Given the description of an element on the screen output the (x, y) to click on. 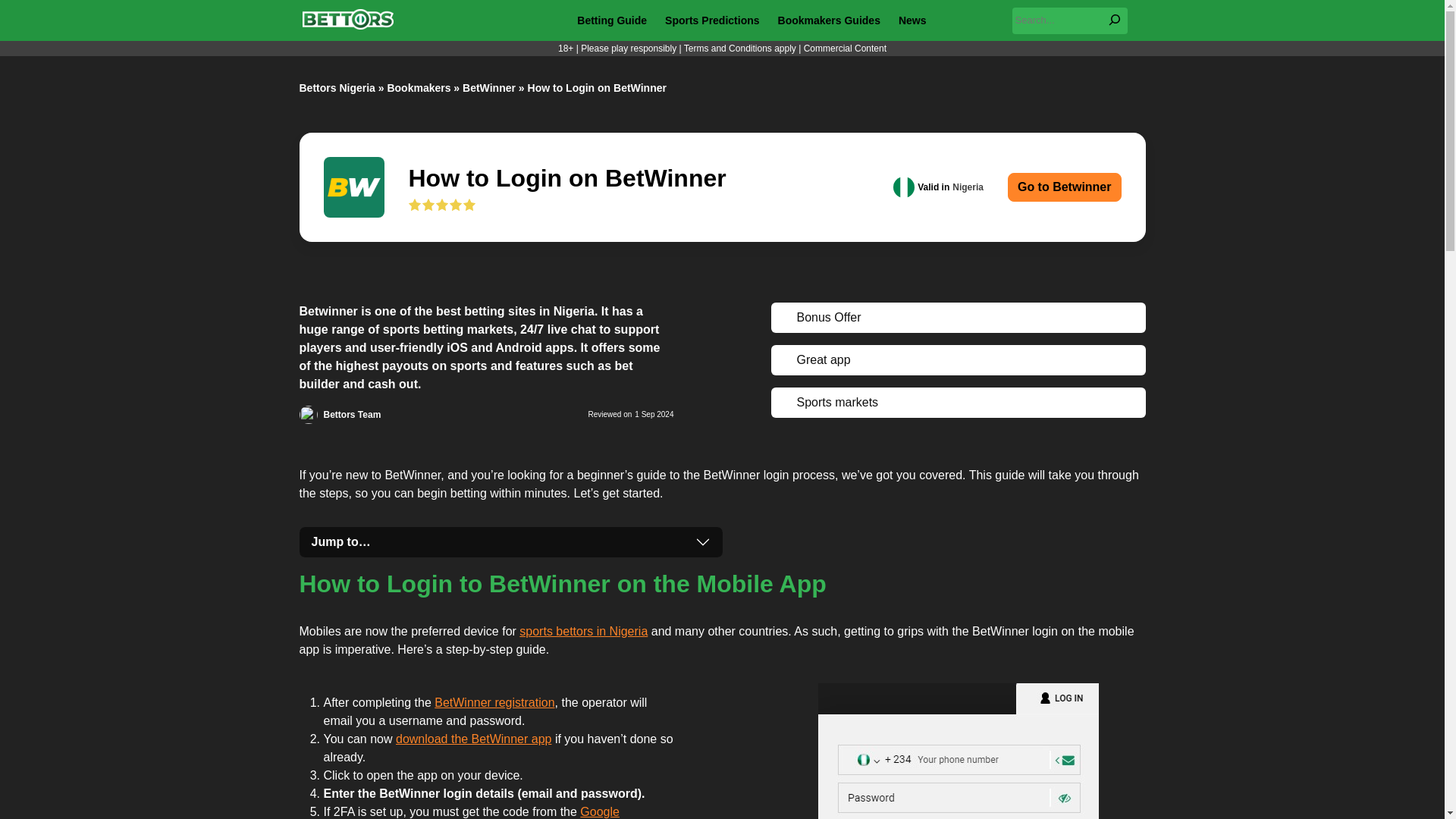
BetWinner (489, 87)
Betwinner (353, 187)
Bettors Team (351, 414)
Bettors Nigeria (336, 87)
Betting Guide (611, 19)
Sports Predictions (711, 19)
News (912, 19)
Bookmakers Guides (828, 19)
Go to Betwinner (1064, 186)
Nigeria (903, 187)
